Given the description of an element on the screen output the (x, y) to click on. 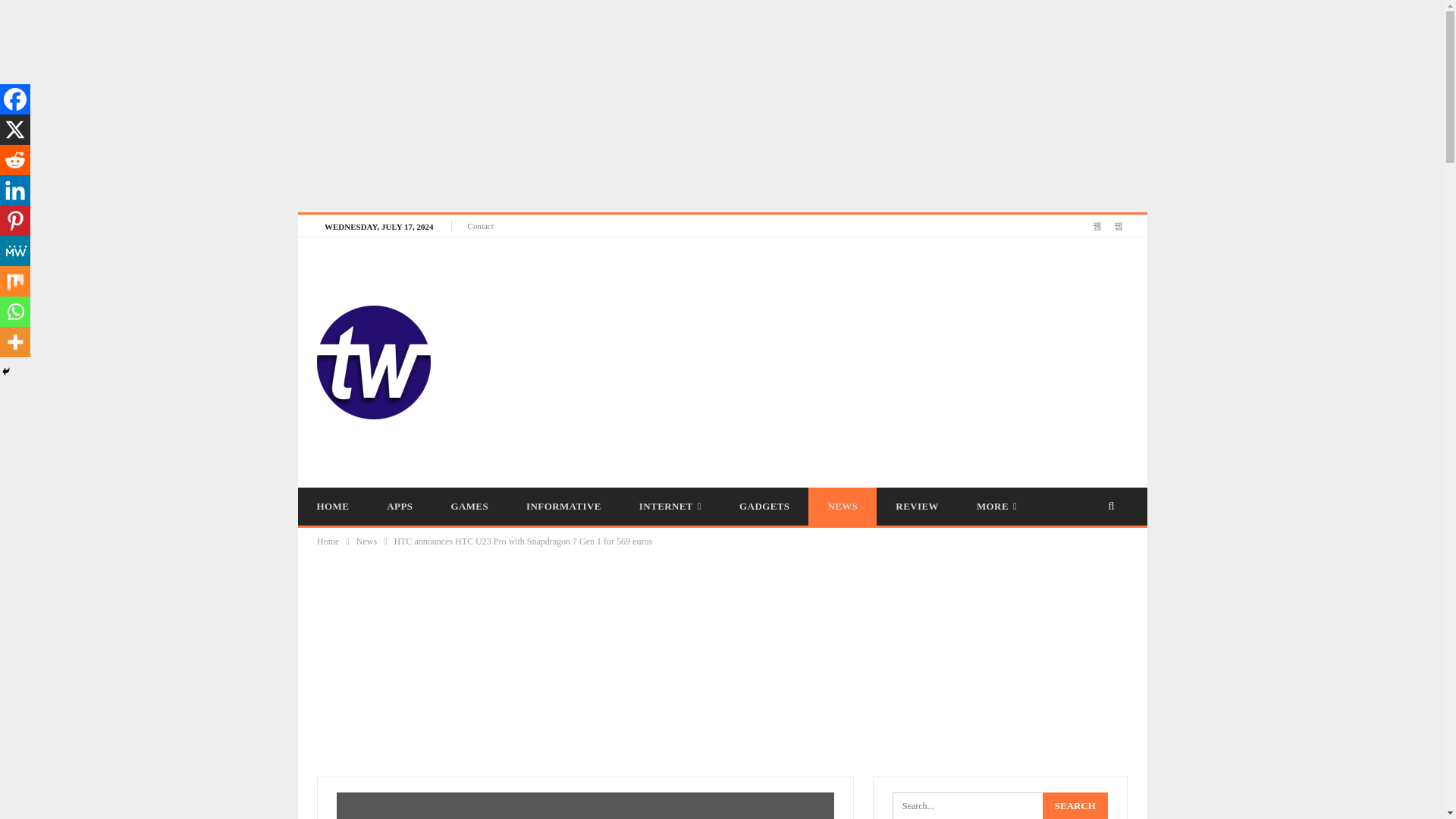
REVIEW (917, 506)
X (15, 129)
Reddit (15, 159)
Contact (480, 225)
INFORMATIVE (563, 506)
GADGETS (764, 506)
GAMES (468, 506)
Facebook (15, 99)
INTERNET (670, 506)
Search (1075, 805)
Search (1075, 805)
NEWS (842, 506)
MORE (996, 506)
HOME (332, 506)
